Given the description of an element on the screen output the (x, y) to click on. 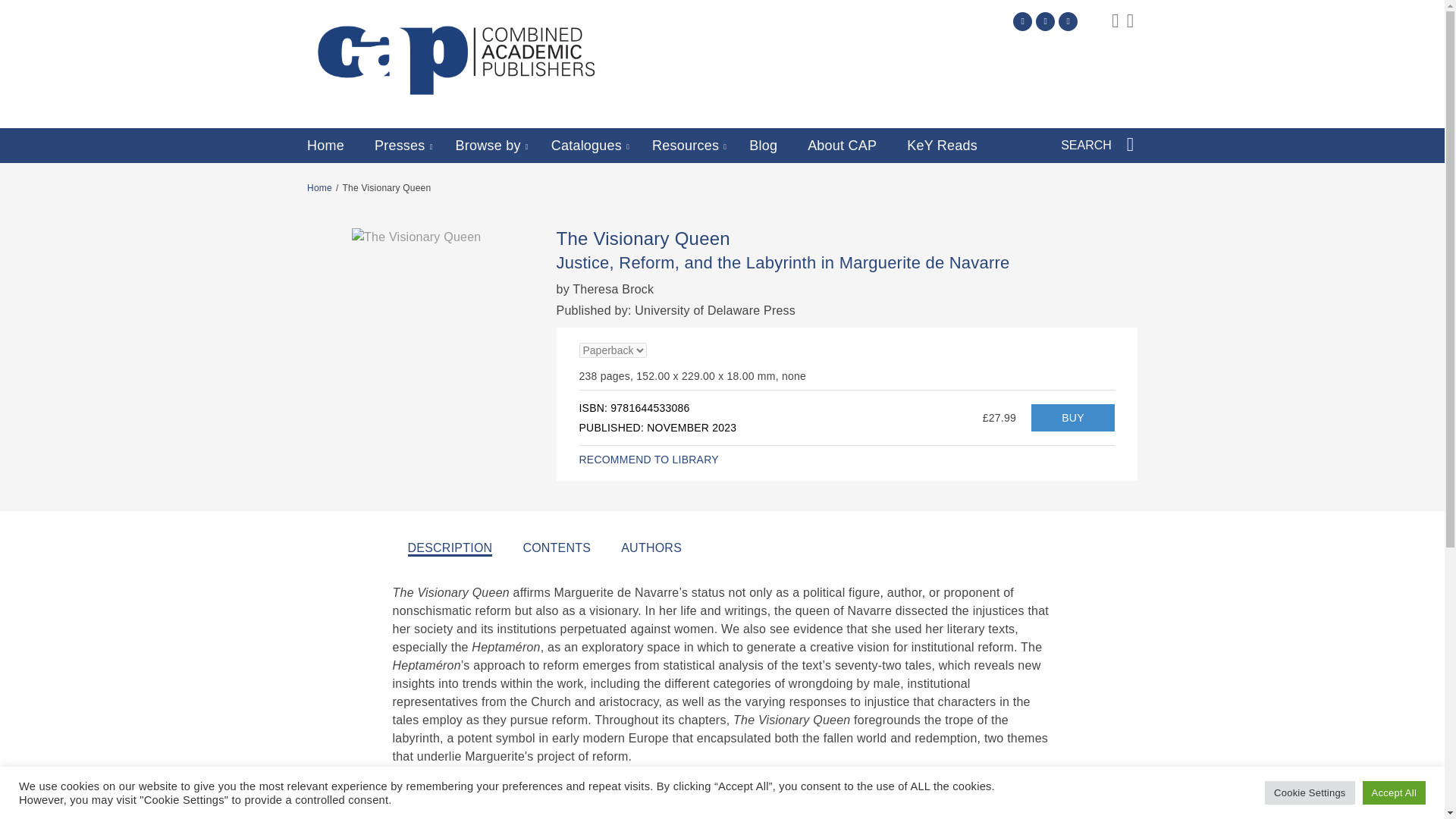
The Visionary Queen (1072, 417)
Browse by (488, 145)
Recommend to Library (649, 459)
Back to homepage (319, 187)
Presses (399, 145)
Follow us on Facebook (1044, 21)
Follow us on Instagram (1067, 21)
Catalogues (586, 145)
Home (325, 145)
